Given the description of an element on the screen output the (x, y) to click on. 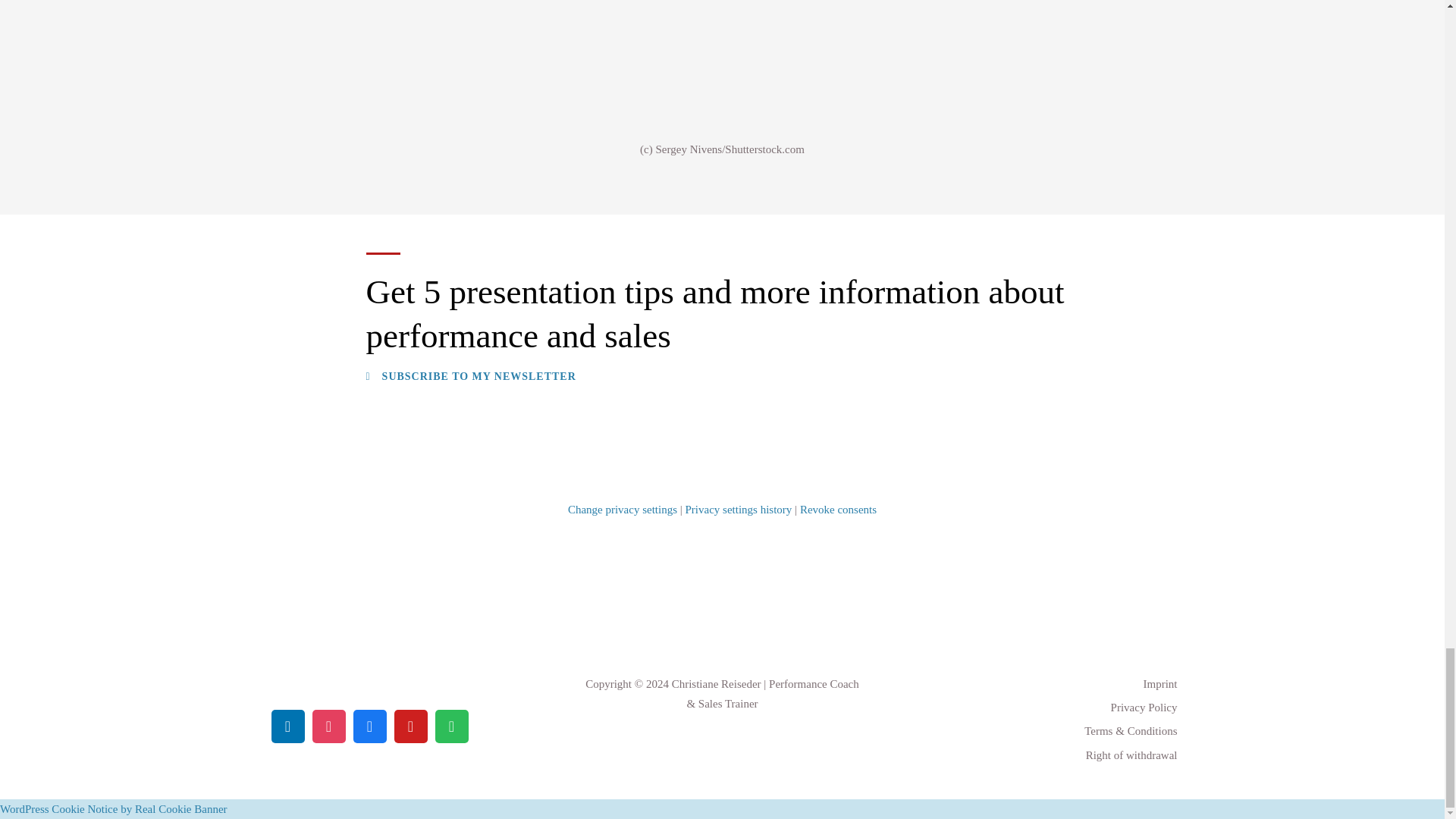
Change privacy settings (622, 509)
Privacy settings history (738, 509)
Revoke consents (837, 509)
SUBSCRIBE TO MY NEWSLETTER (470, 376)
